Given the description of an element on the screen output the (x, y) to click on. 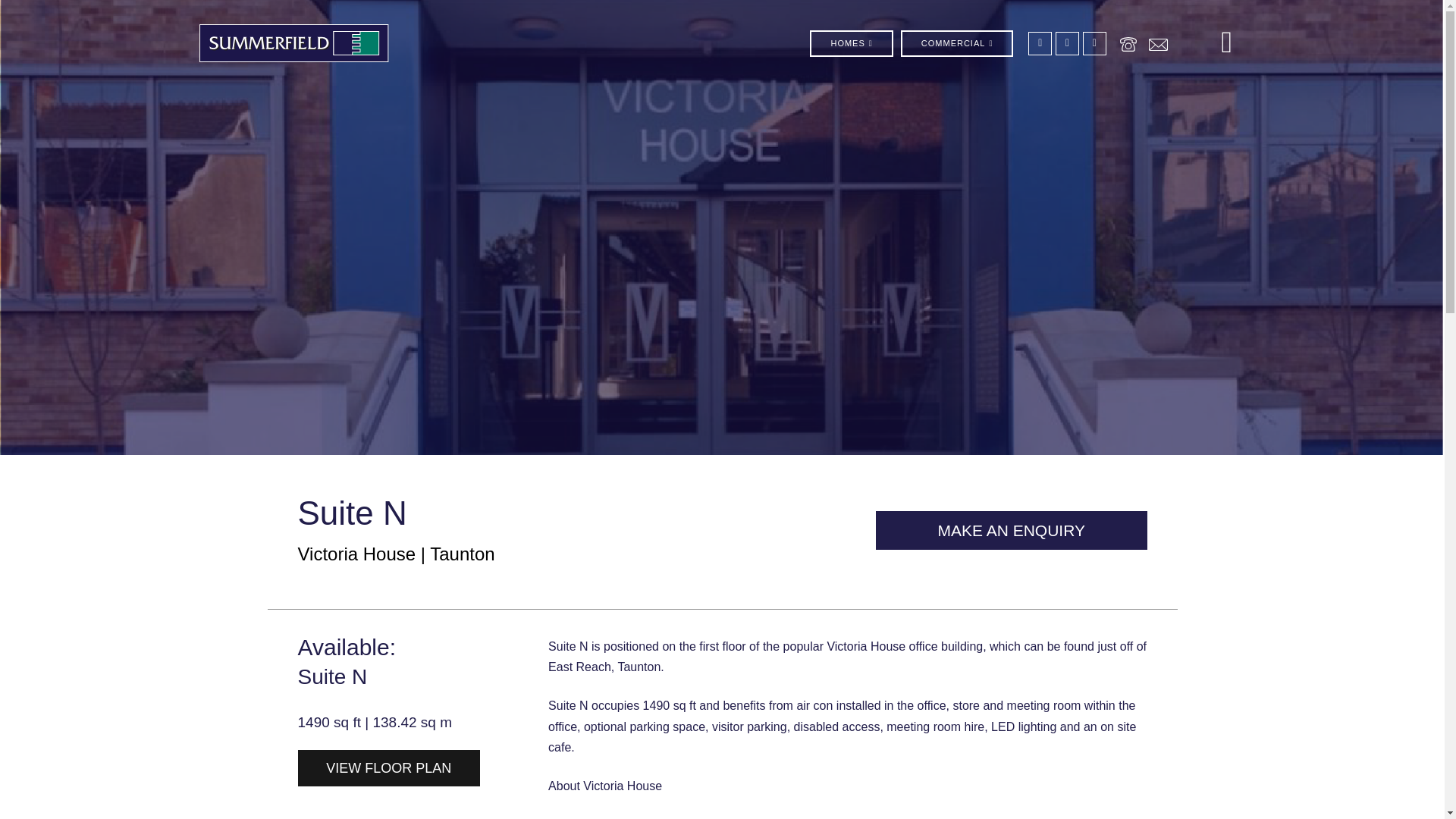
COMMERCIAL (957, 43)
VIEW FLOOR PLAN (388, 768)
MAKE AN ENQUIRY (1011, 530)
HOMES (850, 43)
